Given the description of an element on the screen output the (x, y) to click on. 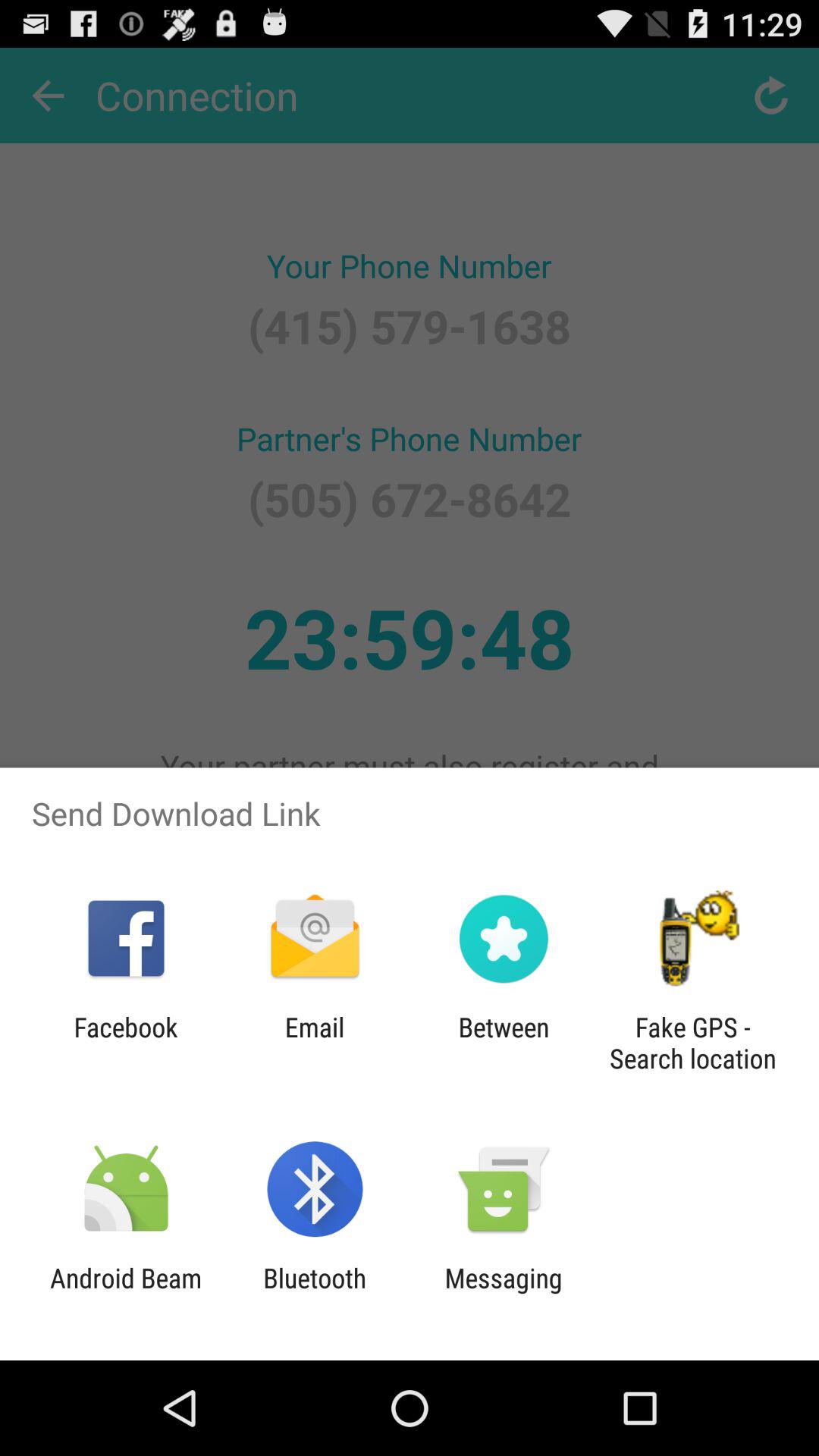
open the item to the left of the between item (314, 1042)
